Given the description of an element on the screen output the (x, y) to click on. 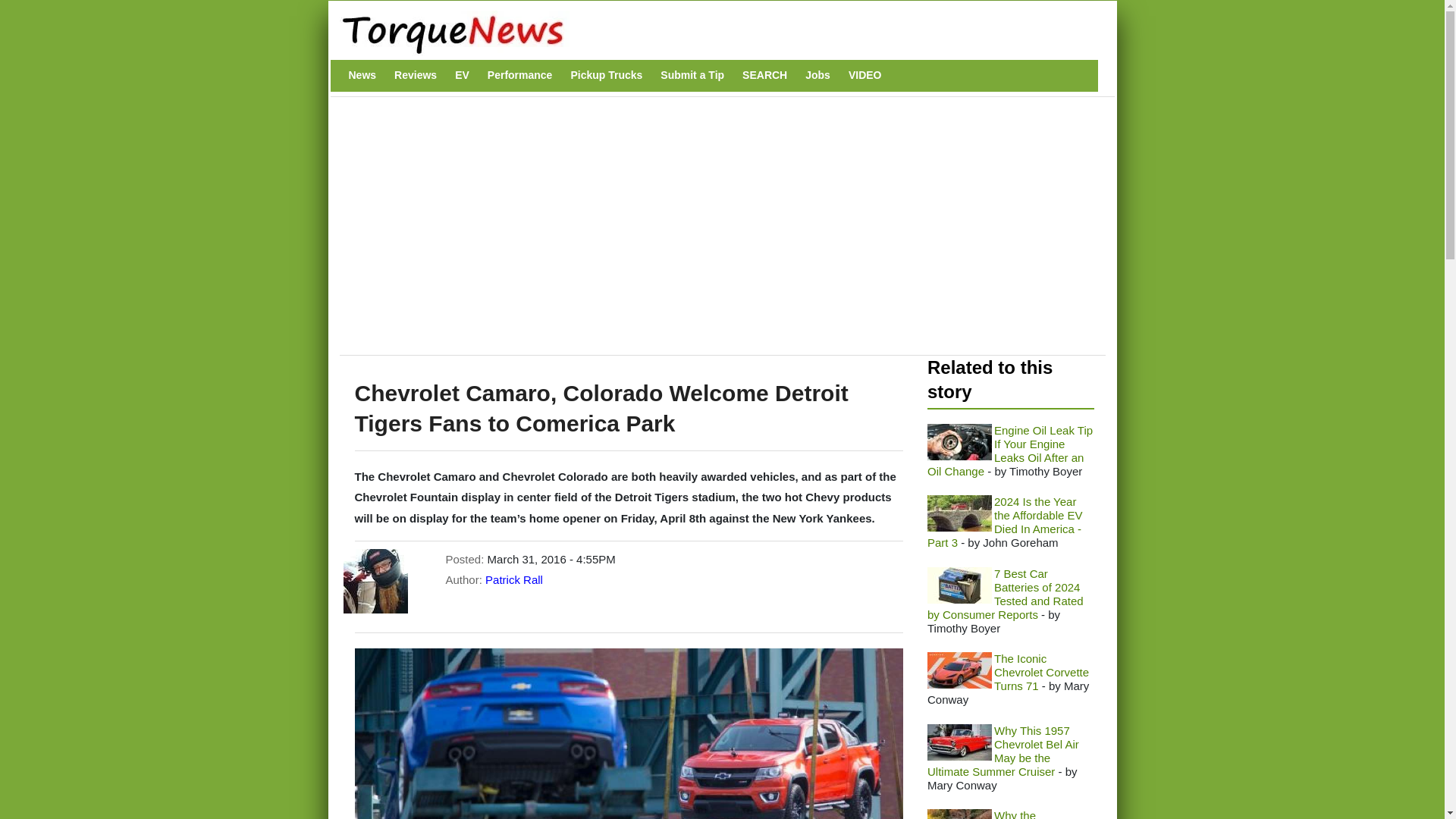
News (362, 75)
Jobs (817, 75)
Advertisement (624, 233)
SEARCH (764, 75)
Submit a Tip (691, 75)
Reviews (415, 75)
Sometimes Your Hands are The Best Tool (959, 442)
Image of Chevy Bolt by John Goreham (959, 513)
View user profile. (513, 579)
Performance (520, 75)
Patrick Rall (513, 579)
VIDEO (865, 75)
Automotive journalism jobs and careers are TorqueNews.com. (817, 75)
News (362, 75)
